Given the description of an element on the screen output the (x, y) to click on. 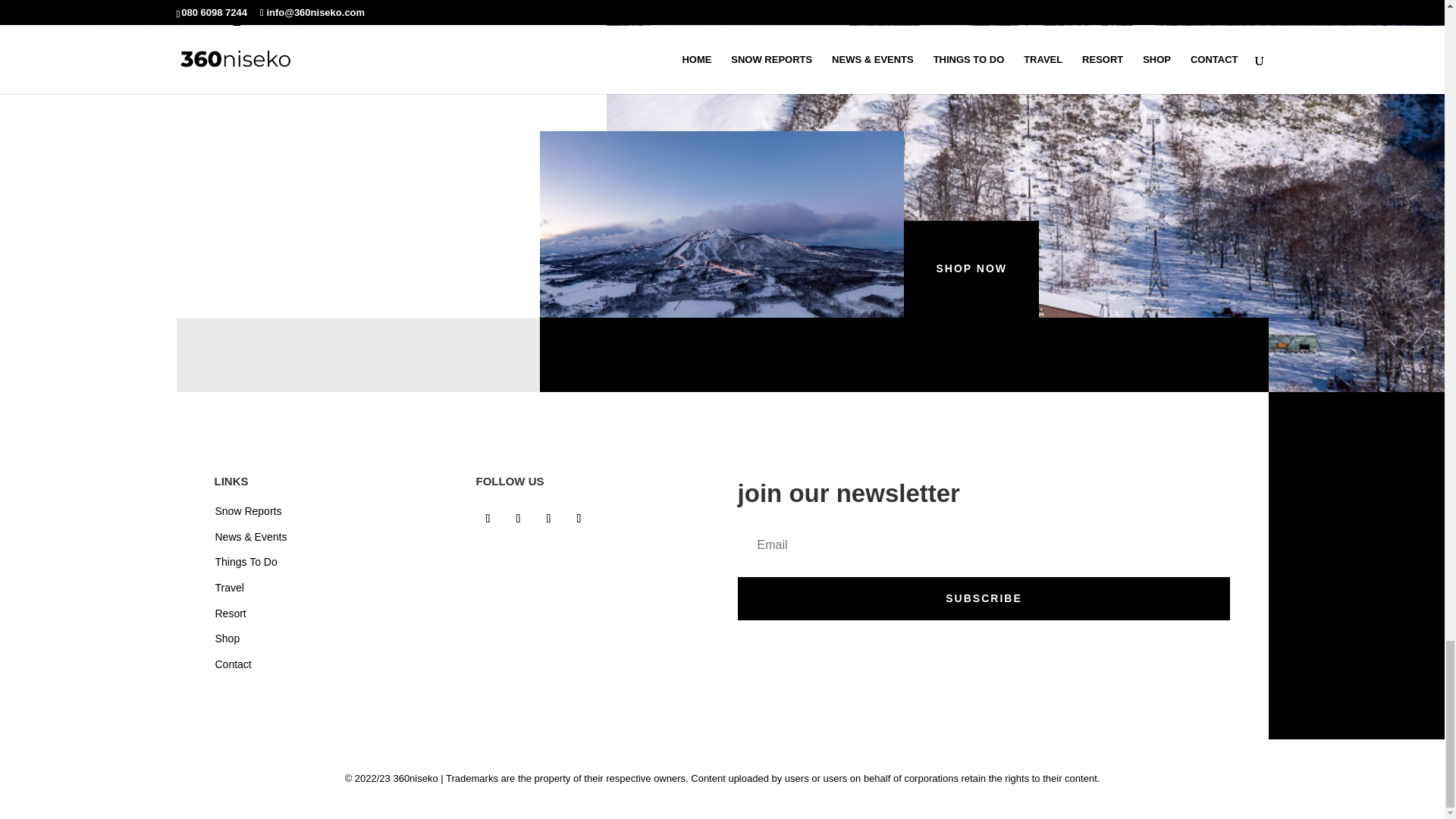
Follow on X (548, 518)
Follow on Facebook (488, 518)
Follow on Vimeo (579, 518)
Follow on Instagram (518, 518)
niseko-2021-12-26 (722, 224)
